Given the description of an element on the screen output the (x, y) to click on. 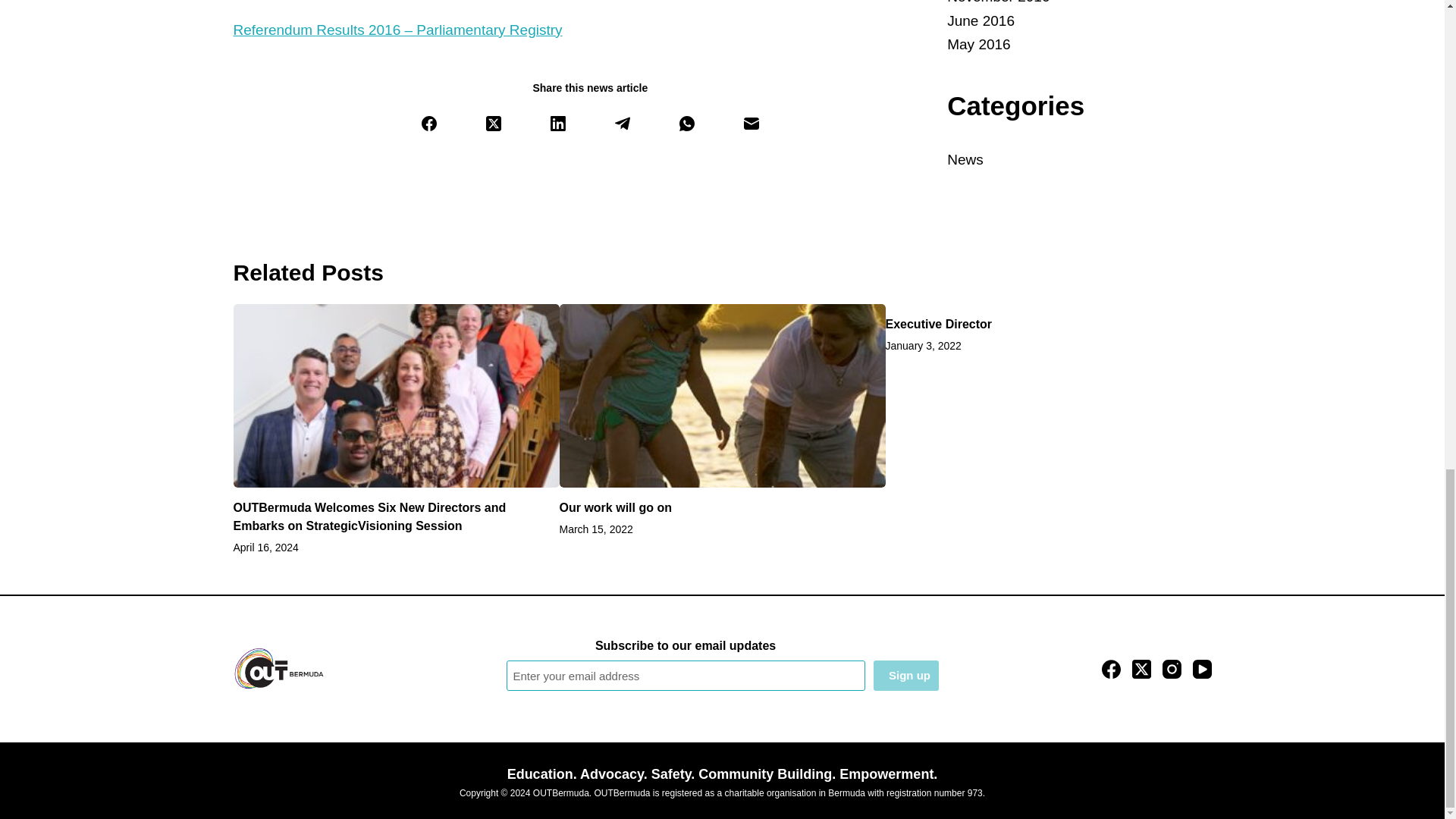
Sign up (906, 675)
